Given the description of an element on the screen output the (x, y) to click on. 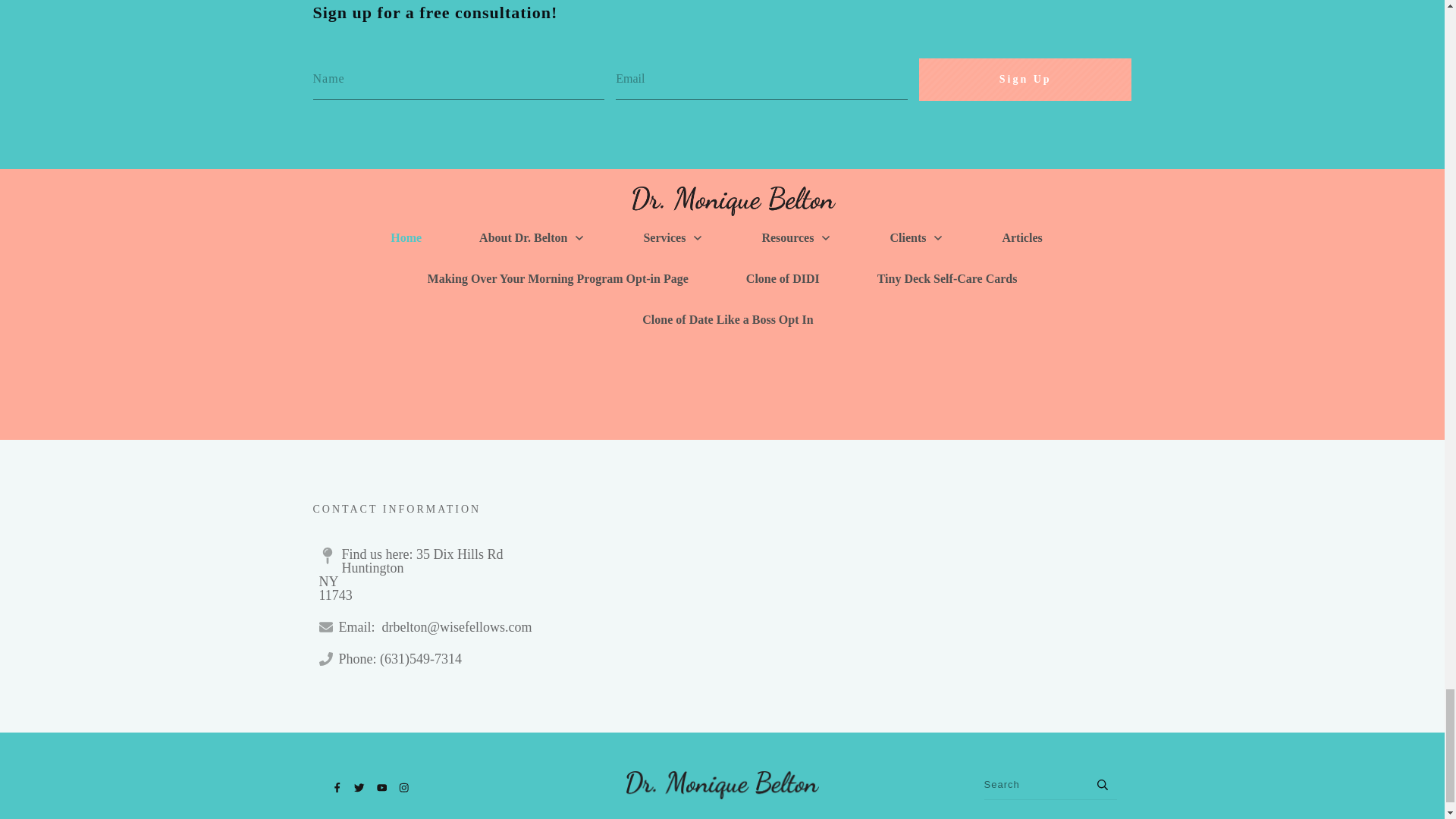
About Dr. Belton (532, 238)
Sign Up (1025, 79)
Home (406, 238)
Services (673, 238)
